Given the description of an element on the screen output the (x, y) to click on. 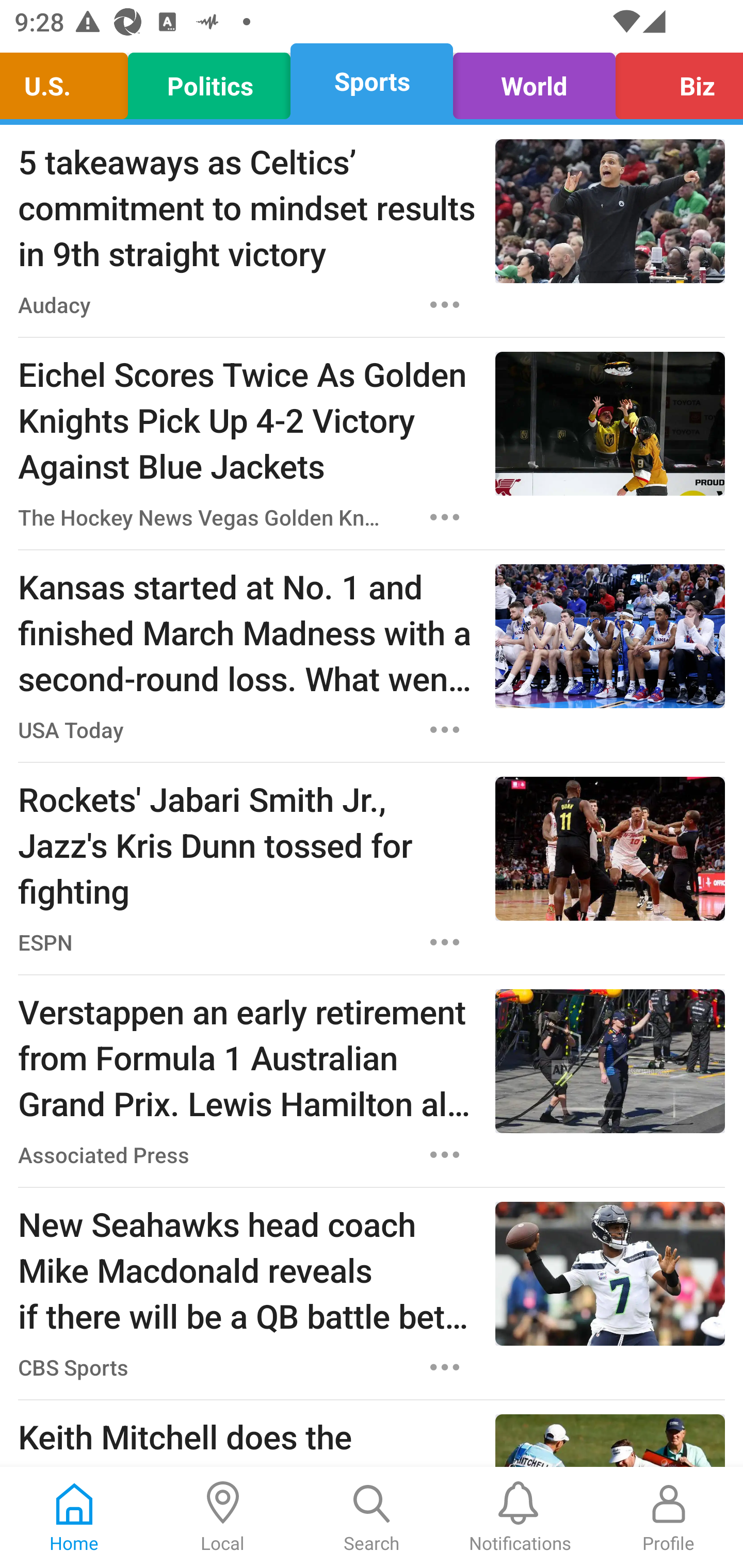
U.S. (69, 81)
Politics (209, 81)
Sports (371, 81)
World (534, 81)
Biz (673, 81)
Options (444, 304)
Options (444, 517)
Options (444, 729)
Options (444, 942)
Options (444, 1154)
Options (444, 1367)
Local (222, 1517)
Search (371, 1517)
Notifications (519, 1517)
Profile (668, 1517)
